Given the description of an element on the screen output the (x, y) to click on. 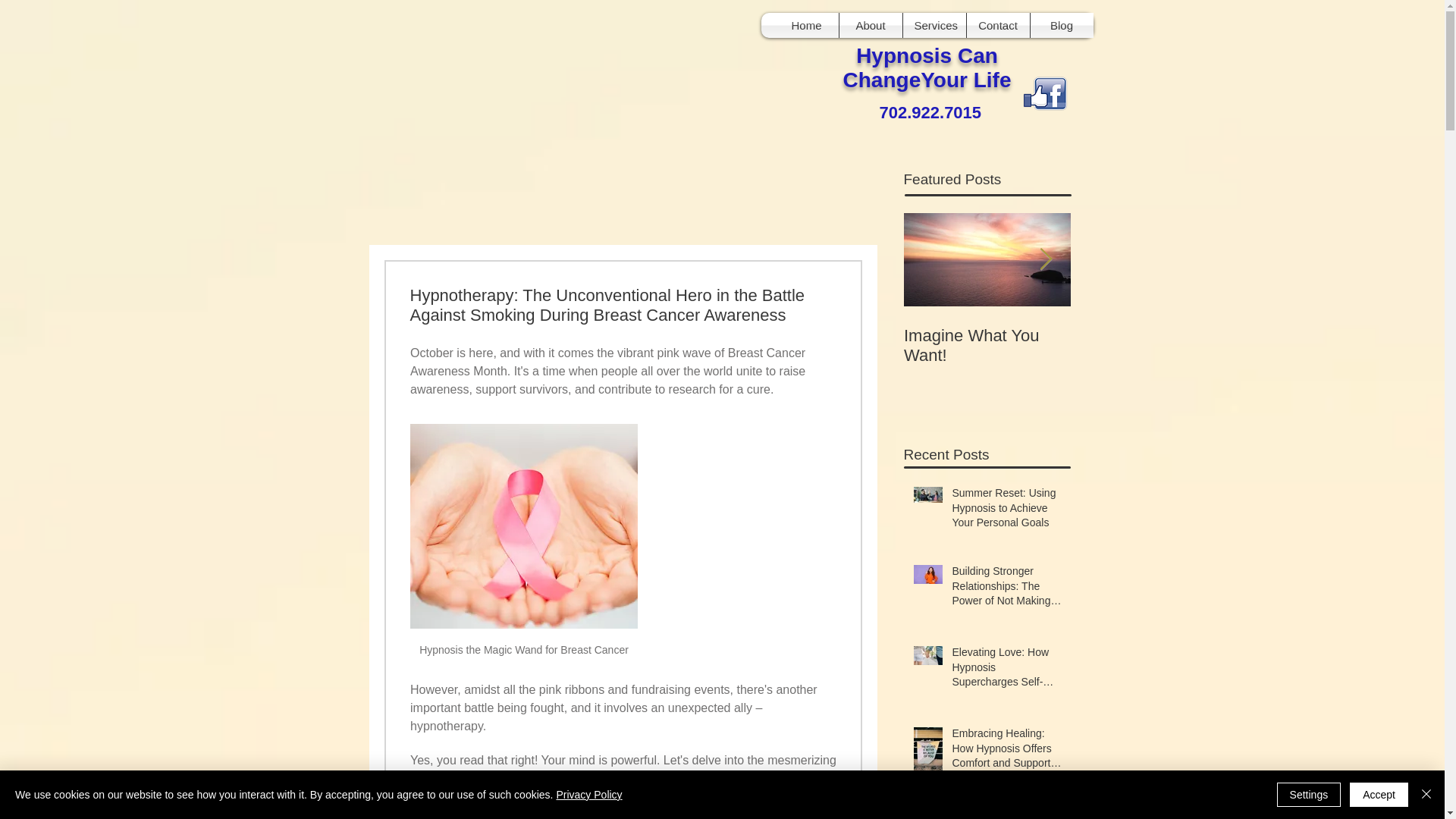
Imagine What You Want! (987, 345)
Contact (997, 25)
Home (806, 25)
Blog (1061, 25)
Services (933, 25)
Your Motivation Equals Success (1153, 345)
About (869, 25)
